Given the description of an element on the screen output the (x, y) to click on. 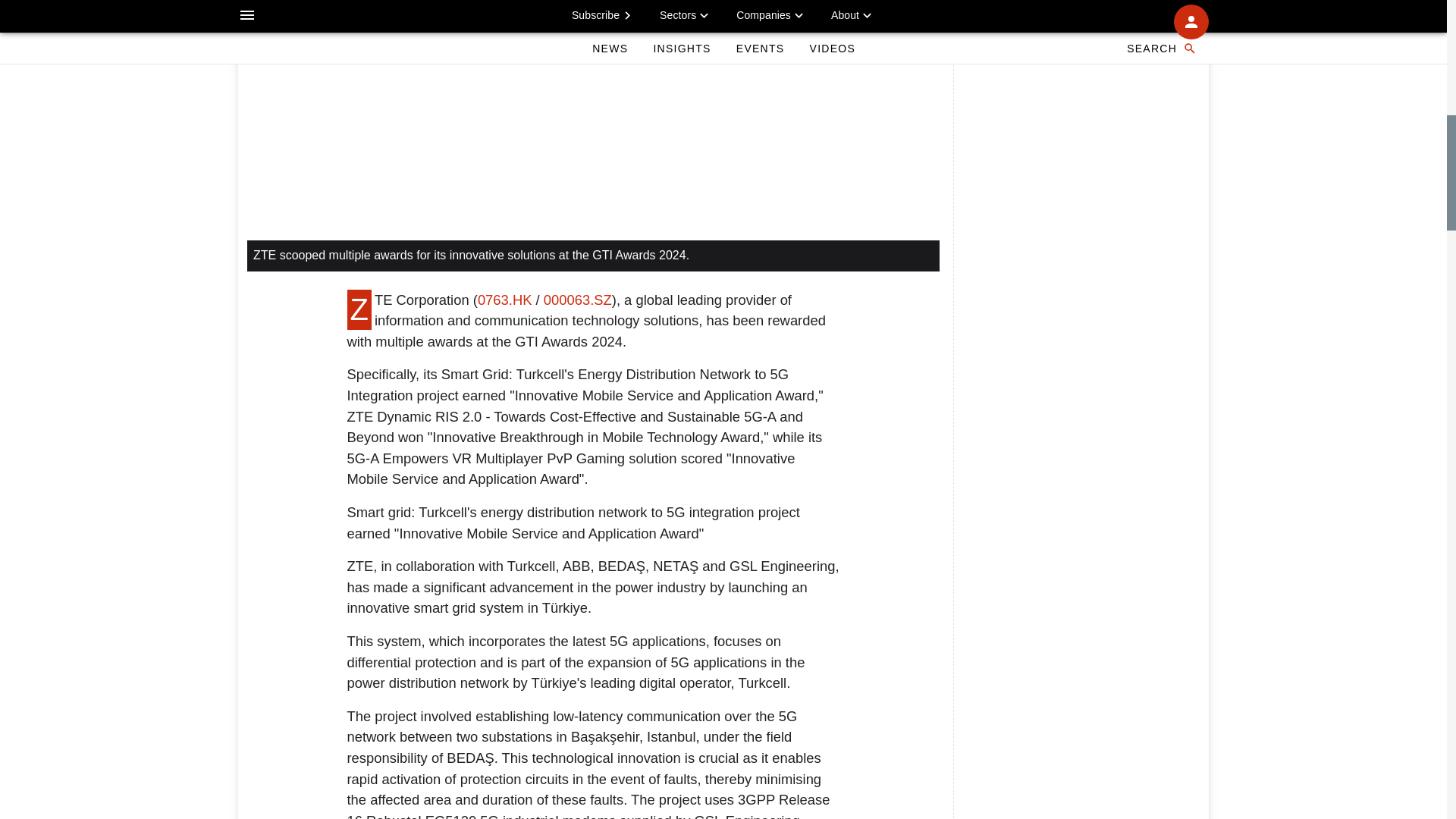
000063.SZ (577, 299)
0763.HK (504, 299)
